Given the description of an element on the screen output the (x, y) to click on. 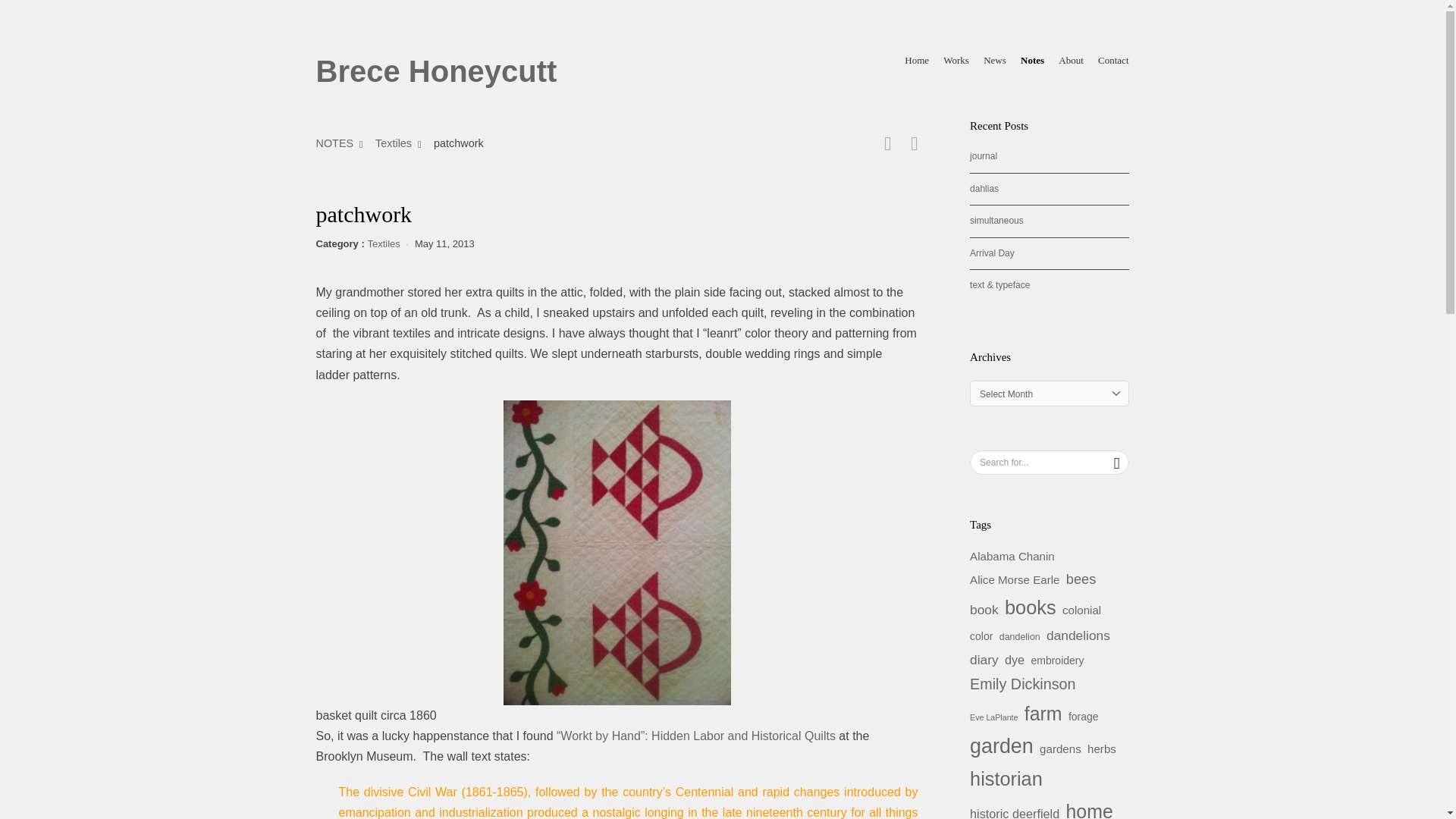
diary (983, 659)
dahlias (983, 188)
workt by hand (697, 735)
color (980, 636)
colonial (1081, 609)
Alabama Chanin (1011, 555)
Contact (1112, 60)
Notes (1031, 60)
dandelion (1019, 636)
simultaneous (996, 220)
